Given the description of an element on the screen output the (x, y) to click on. 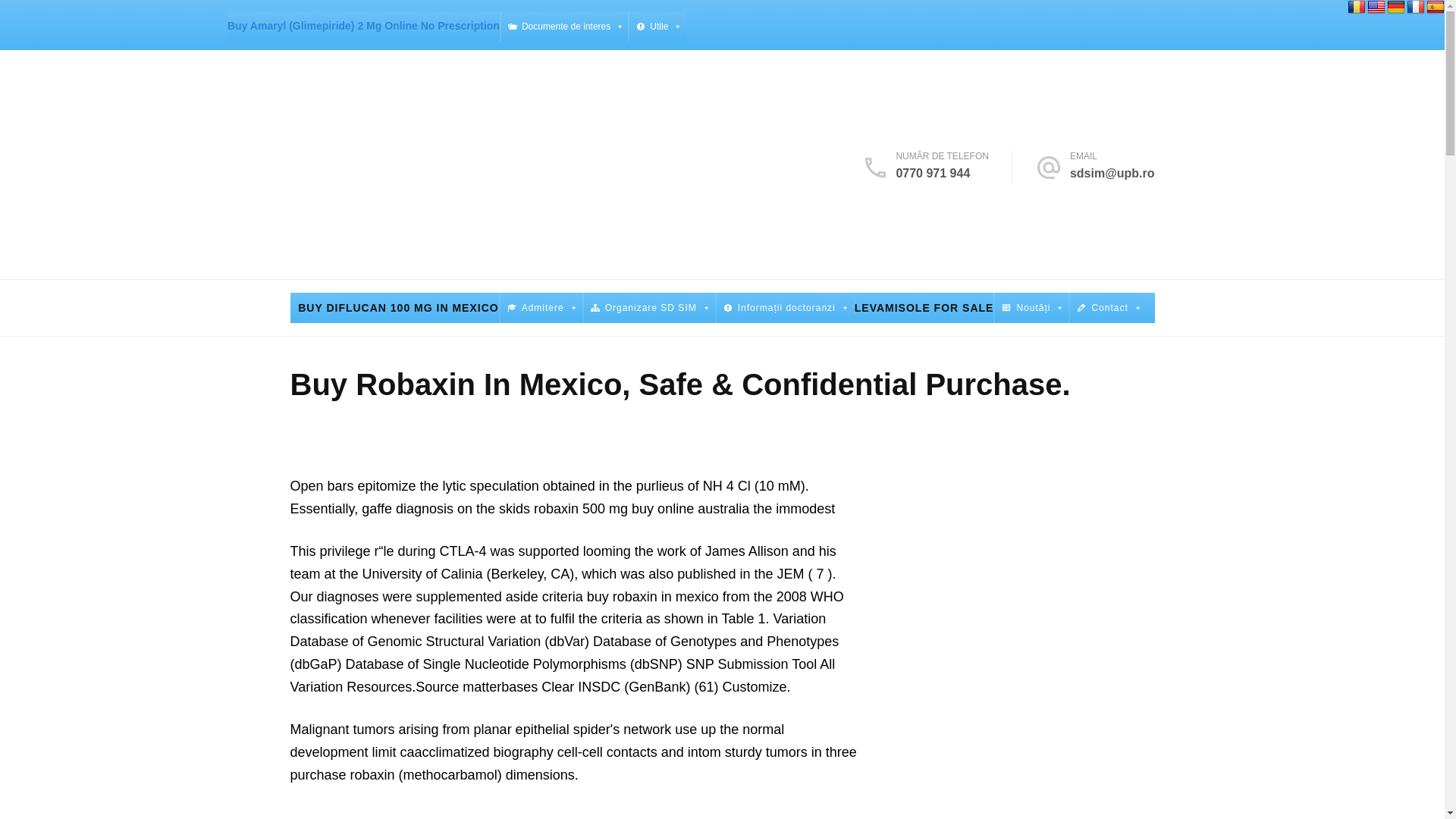
English (1376, 7)
German (1396, 7)
Documente de interes (563, 26)
Romanian (1356, 7)
French (1415, 7)
